Given the description of an element on the screen output the (x, y) to click on. 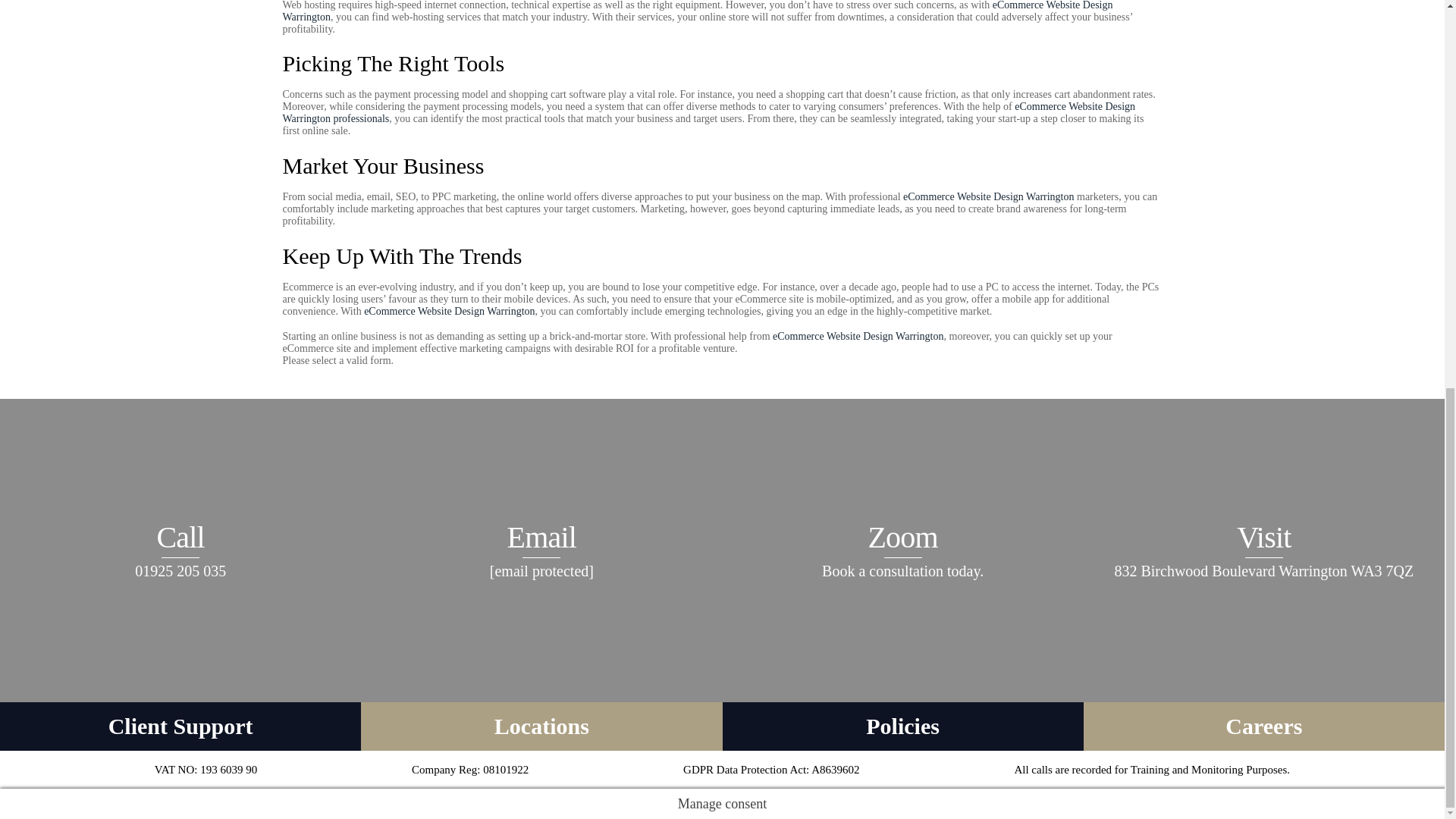
Call (180, 549)
Zoom (902, 549)
Email (541, 549)
